Given the description of an element on the screen output the (x, y) to click on. 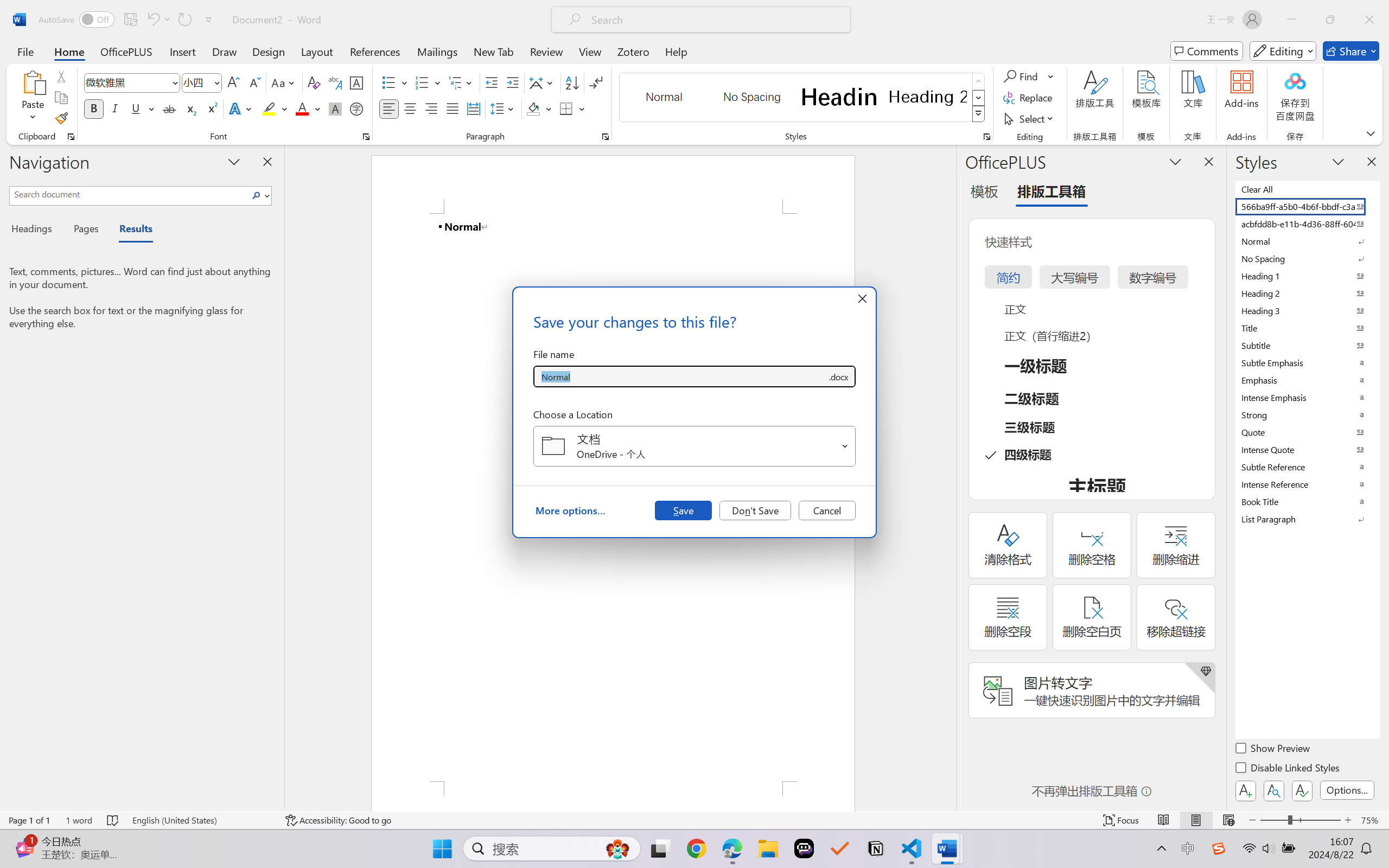
Quick Access Toolbar (127, 19)
Multilevel List (461, 82)
Paste (33, 81)
Notion (875, 848)
Styles... (986, 136)
Subtle Emphasis (1306, 362)
Heading 1 (839, 96)
Quote (1306, 431)
Change Case (284, 82)
Replace... (1029, 97)
Close (1369, 19)
AutomationID: QuickStylesGallery (802, 97)
